Given the description of an element on the screen output the (x, y) to click on. 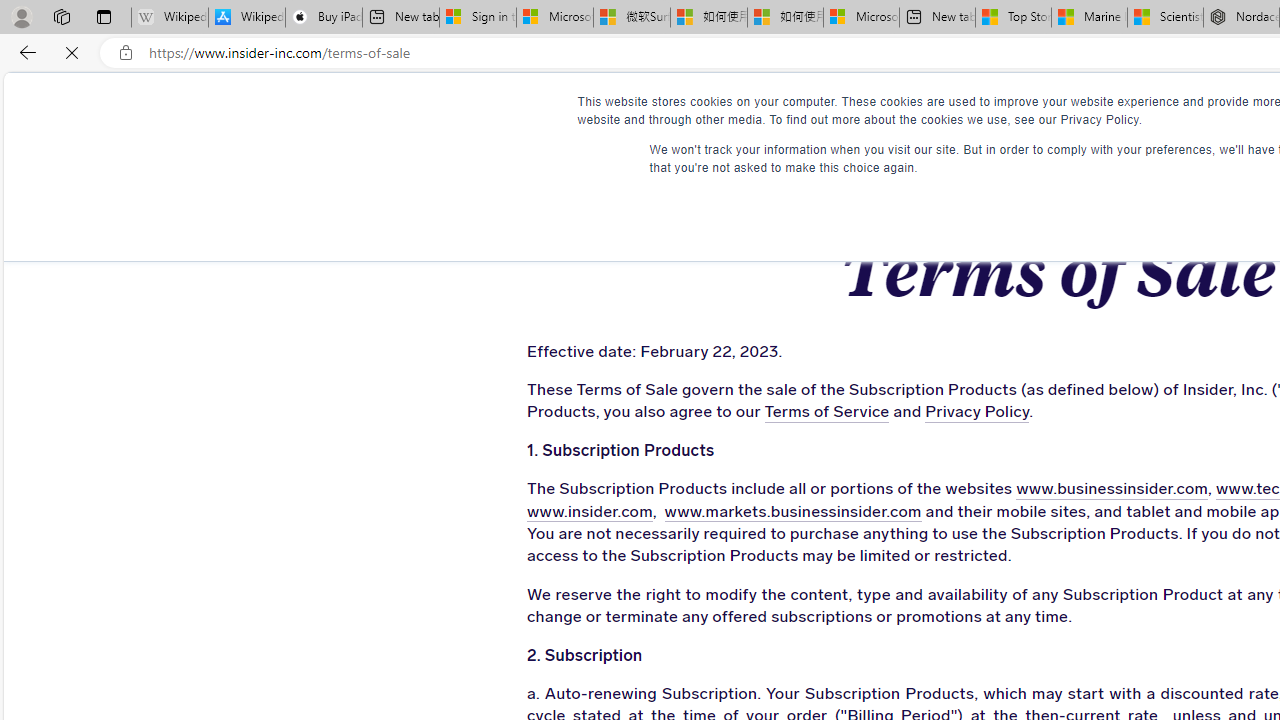
ADVERTISE WITH US (783, 110)
www.businessinsider.com (1053, 489)
www.insider.com (584, 511)
www.markets.businessinsider.com (771, 511)
WHO WE ARE (609, 110)
